Given the description of an element on the screen output the (x, y) to click on. 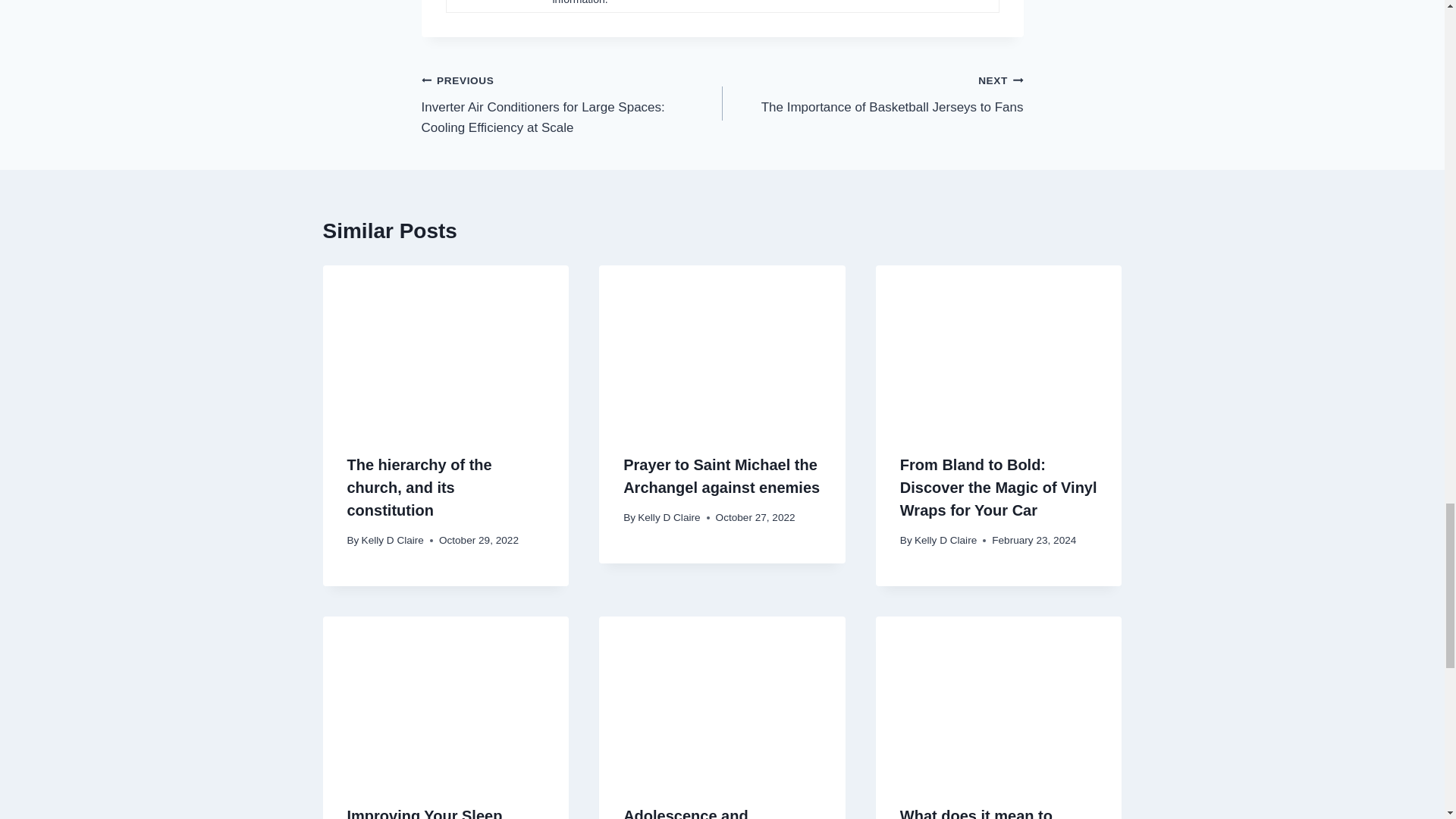
Kelly D Claire (668, 517)
The hierarchy of the church, and its constitution (419, 487)
Kelly D Claire (392, 540)
Kelly D Claire (945, 540)
Improving Your Sleep Quality with CPAP Machines (424, 813)
Prayer to Saint Michael the Archangel against enemies (872, 93)
